Given the description of an element on the screen output the (x, y) to click on. 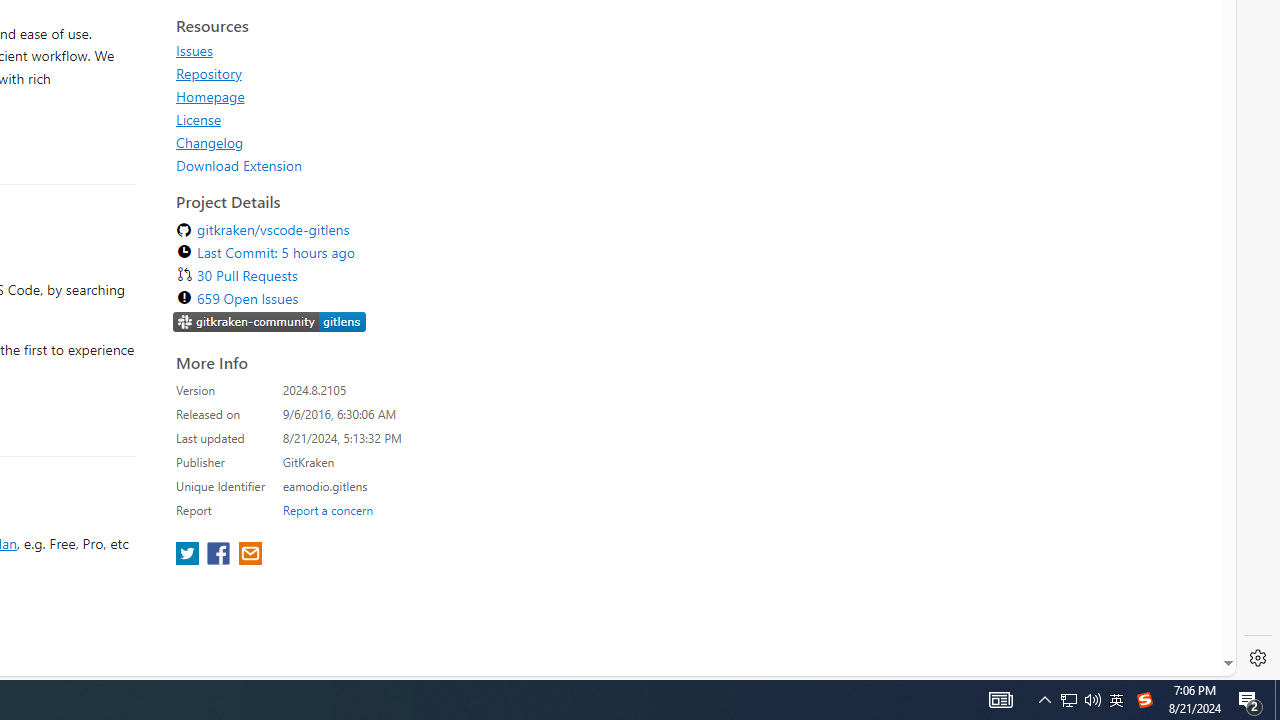
https://slack.gitkraken.com// (269, 323)
Report a concern (327, 509)
License (358, 119)
Homepage (210, 96)
share extension on facebook (220, 555)
License (198, 119)
share extension on email (249, 555)
https://slack.gitkraken.com// (269, 321)
Repository (358, 73)
Issues (194, 50)
Homepage (358, 96)
share extension on twitter (190, 555)
